Given the description of an element on the screen output the (x, y) to click on. 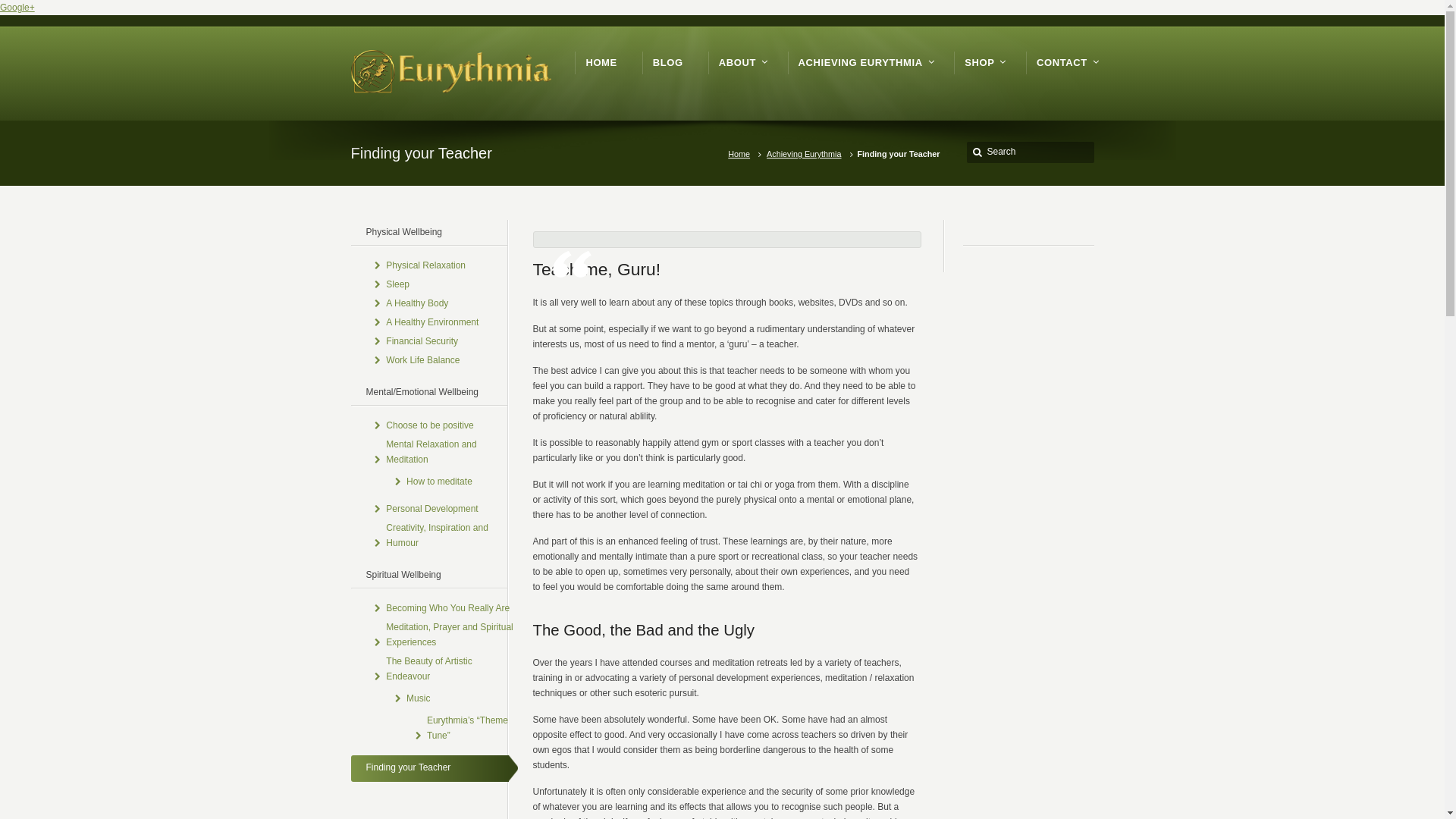
Work Life Balance Element type: text (422, 360)
Financial Security Element type: text (421, 341)
The Beauty of Artistic Endeavour Element type: text (451, 668)
Mental Relaxation and Meditation Element type: text (451, 451)
Google+ Element type: text (17, 7)
Creativity, Inspiration and Humour Element type: text (451, 535)
Spiritual Wellbeing Element type: text (428, 575)
Sleep Element type: text (397, 284)
Home Element type: text (741, 153)
ACHIEVING EURYTHMIA Element type: text (863, 62)
Physical Wellbeing Element type: text (428, 232)
A Healthy Body Element type: text (416, 303)
Physical Relaxation Element type: text (425, 265)
Achieving Eurythmia Element type: text (806, 153)
A Healthy Environment Element type: text (431, 322)
Personal Development Element type: text (431, 509)
Finding your Teacher Element type: text (433, 768)
How to meditate Element type: text (439, 481)
Choose to be positive Element type: text (429, 425)
ABOUT Element type: text (740, 62)
Becoming Who You Really Are Element type: text (447, 608)
SHOP Element type: text (982, 62)
Music Element type: text (417, 698)
HOME Element type: text (600, 62)
Meditation, Prayer and Spiritual Experiences Element type: text (451, 634)
CONTACT Element type: text (1064, 62)
BLOG Element type: text (667, 62)
Mental/Emotional Wellbeing Element type: text (428, 392)
search Element type: text (977, 151)
